Given the description of an element on the screen output the (x, y) to click on. 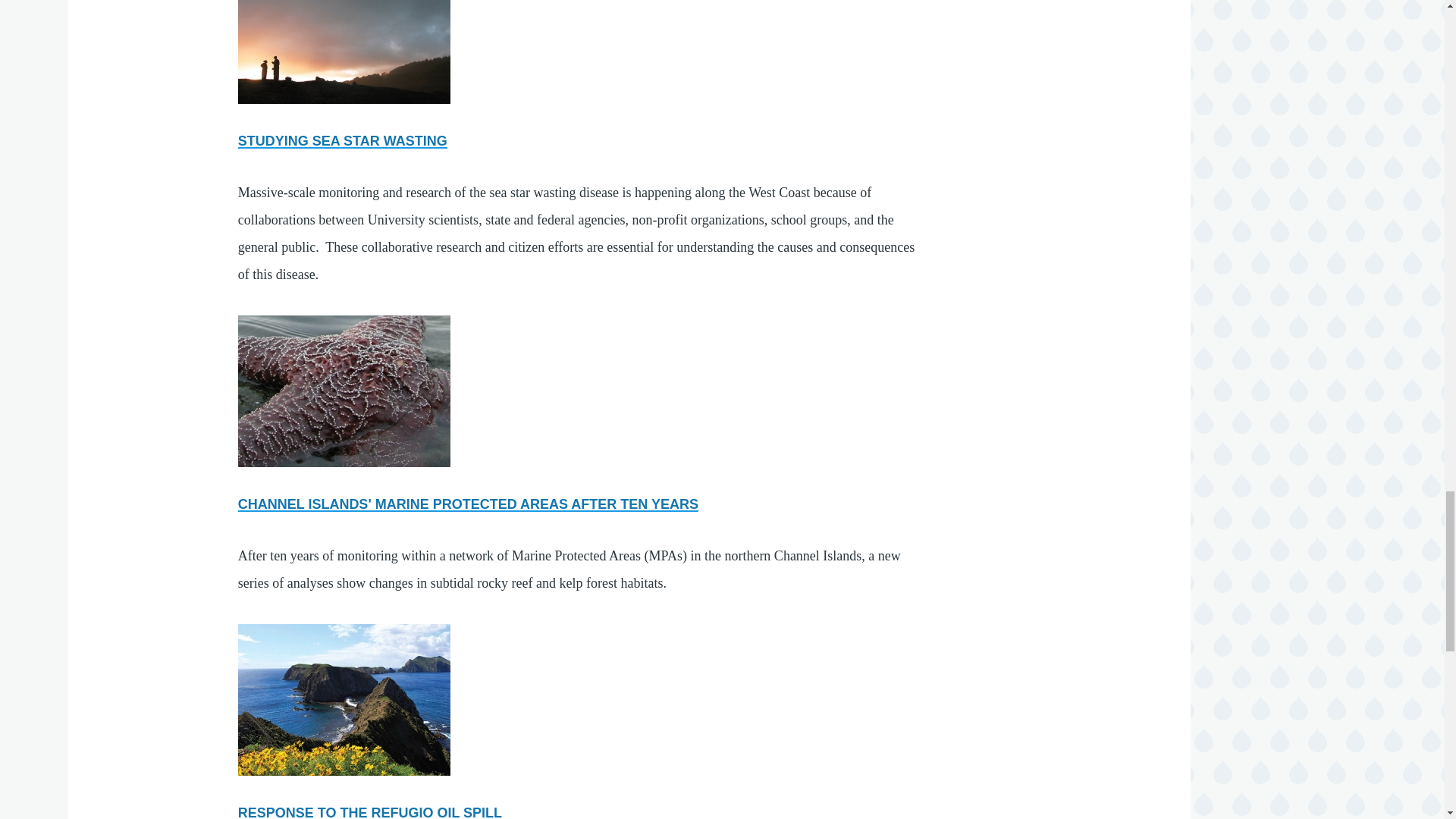
STUDYING SEA STAR WASTING (342, 140)
RESPONSE TO THE REFUGIO OIL SPILL (370, 812)
CHANNEL ISLANDS' MARINE PROTECTED AREAS AFTER TEN YEARS (468, 503)
